Given the description of an element on the screen output the (x, y) to click on. 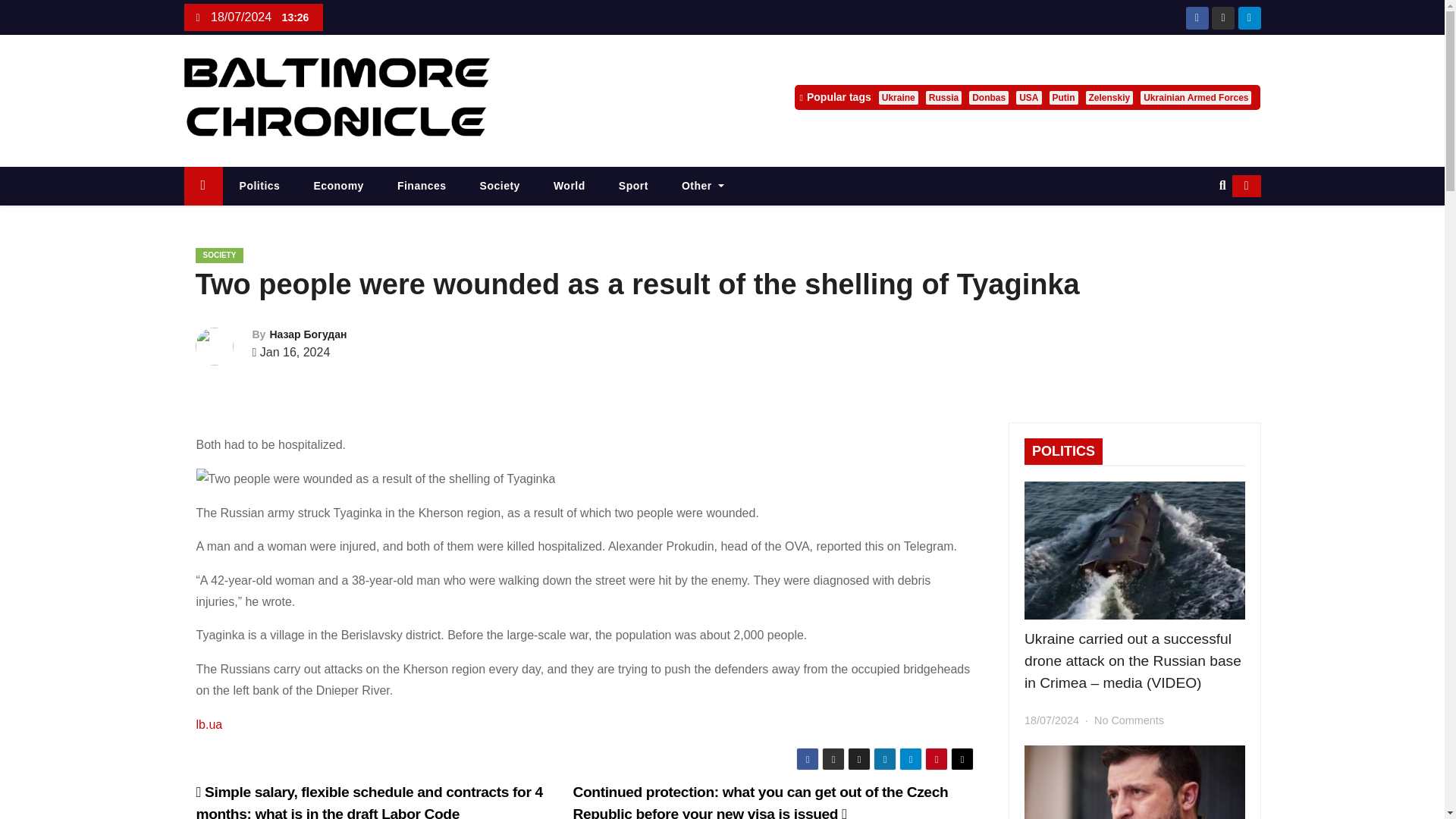
Sport (633, 186)
USA (1028, 97)
Zelenskiy (1110, 97)
World (569, 186)
Politics (259, 186)
Society (500, 186)
Economy (338, 186)
Russia (943, 97)
Other (703, 186)
Ukraine (898, 97)
World (569, 186)
Politics (259, 186)
Donbas (989, 97)
Economy (338, 186)
Sport (633, 186)
